Given the description of an element on the screen output the (x, y) to click on. 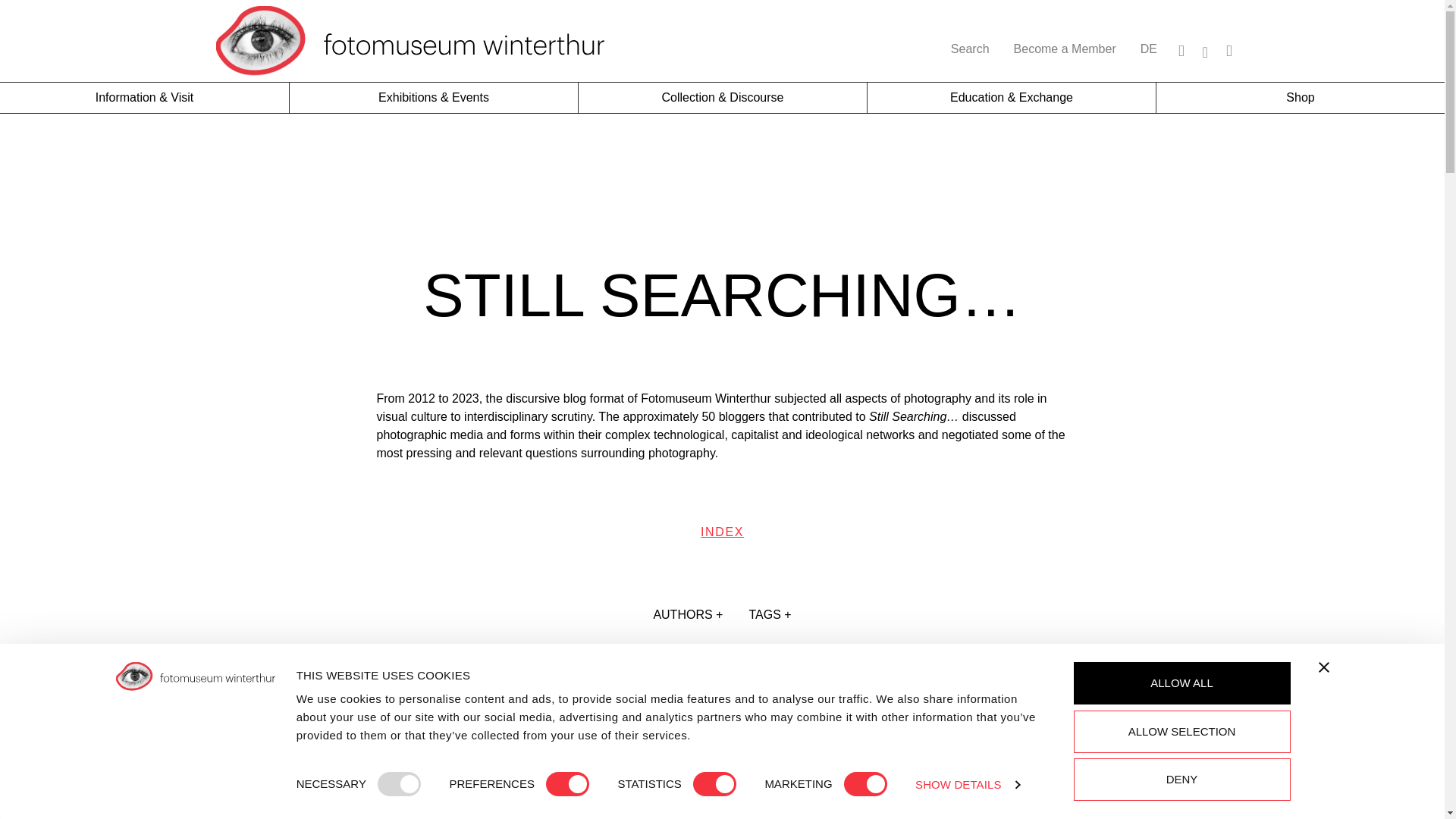
Deutsch (1148, 48)
SHOW DETAILS (967, 784)
